Given the description of an element on the screen output the (x, y) to click on. 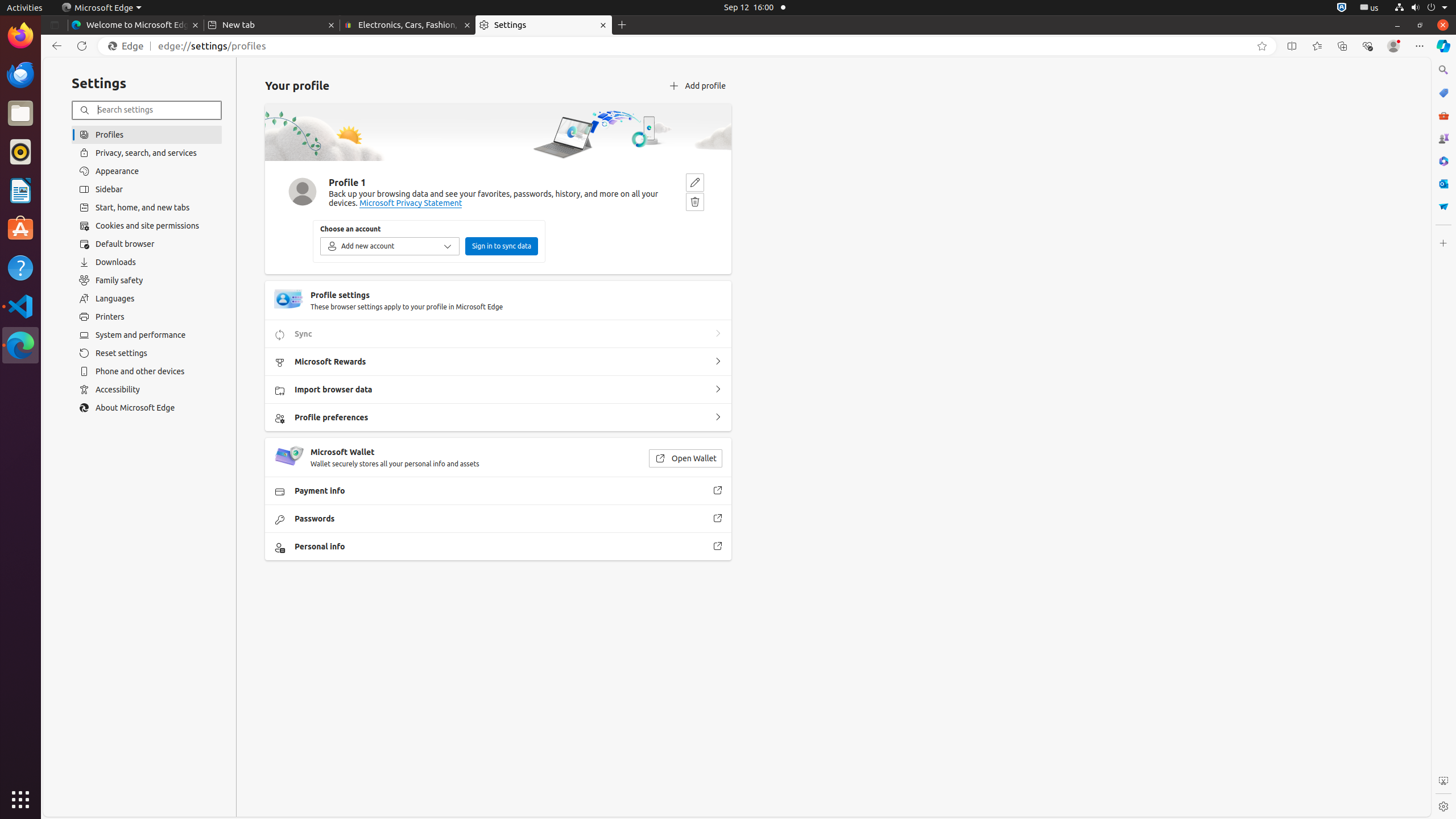
Payment info Element type: push-button (717, 490)
Profile 1 Profile, Please sign in Element type: push-button (1392, 46)
Profiles Element type: tree-item (146, 134)
Downloads Element type: tree-item (146, 262)
About Microsoft Edge Element type: tree-item (146, 407)
